Given the description of an element on the screen output the (x, y) to click on. 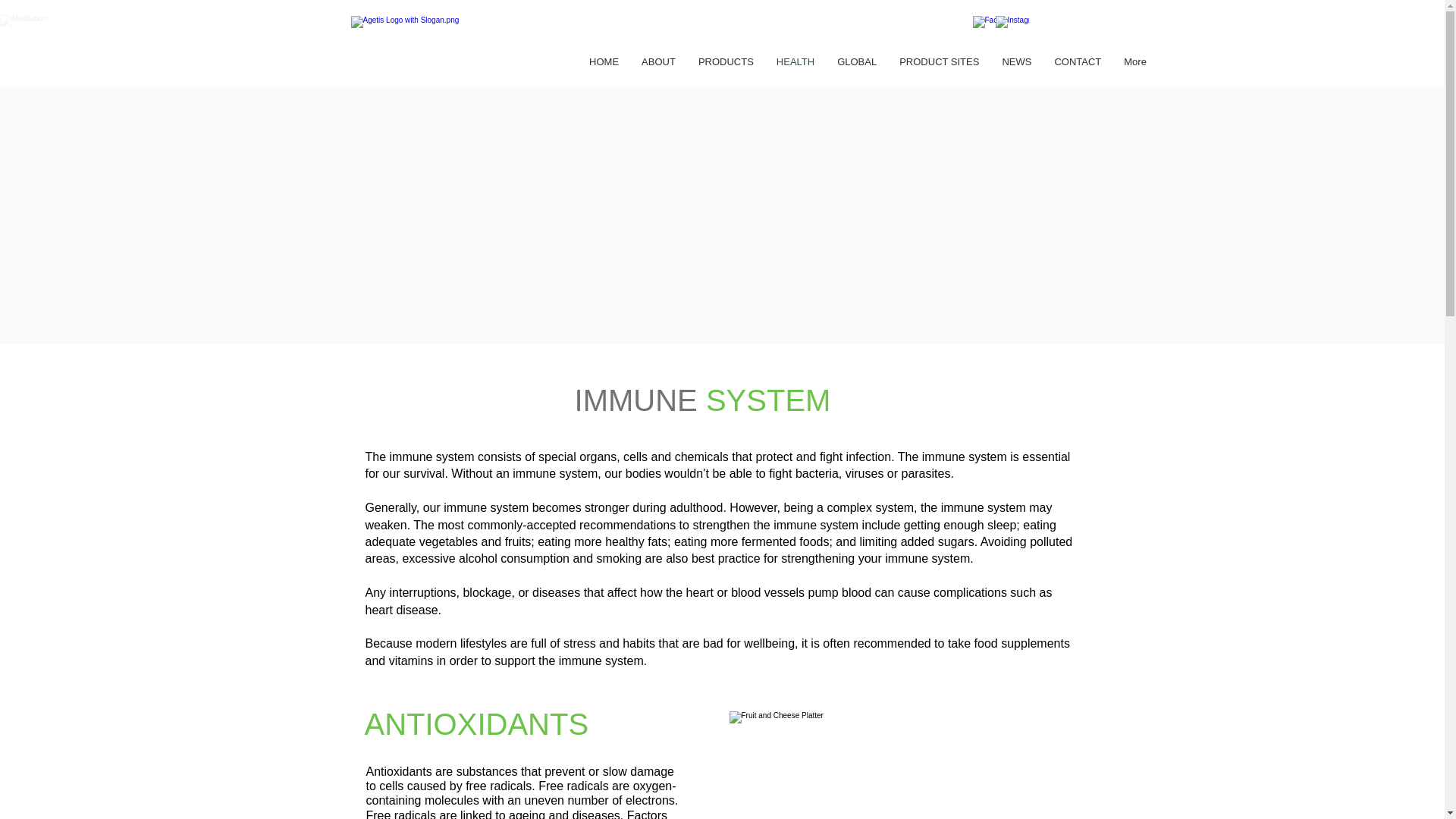
HOME (604, 69)
PRODUCTS (726, 69)
HEALTH (795, 69)
ABOUT (658, 69)
GLOBAL (856, 69)
